Given the description of an element on the screen output the (x, y) to click on. 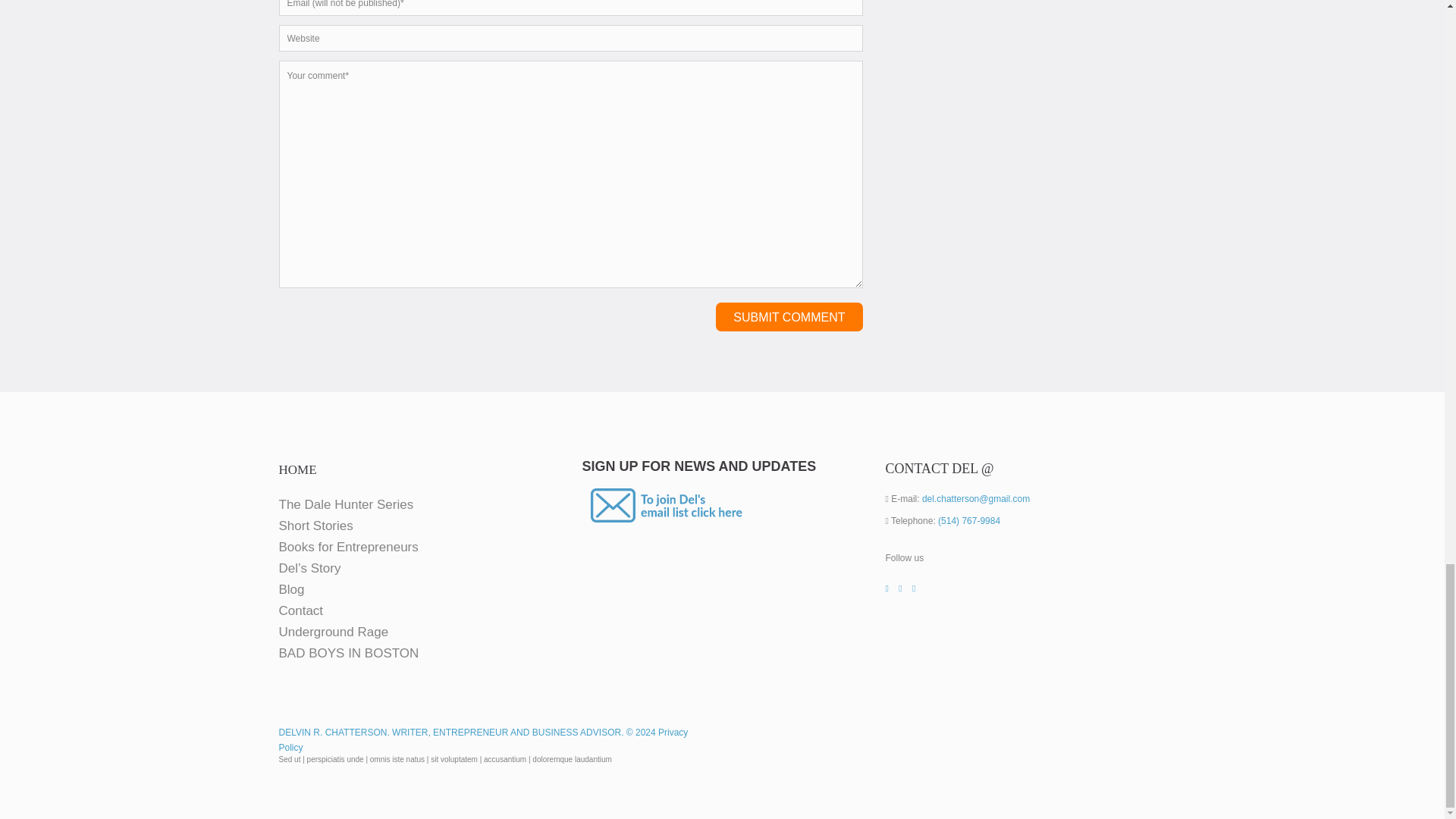
Website (571, 38)
Submit Comment (788, 316)
Submit Comment (788, 316)
